Given the description of an element on the screen output the (x, y) to click on. 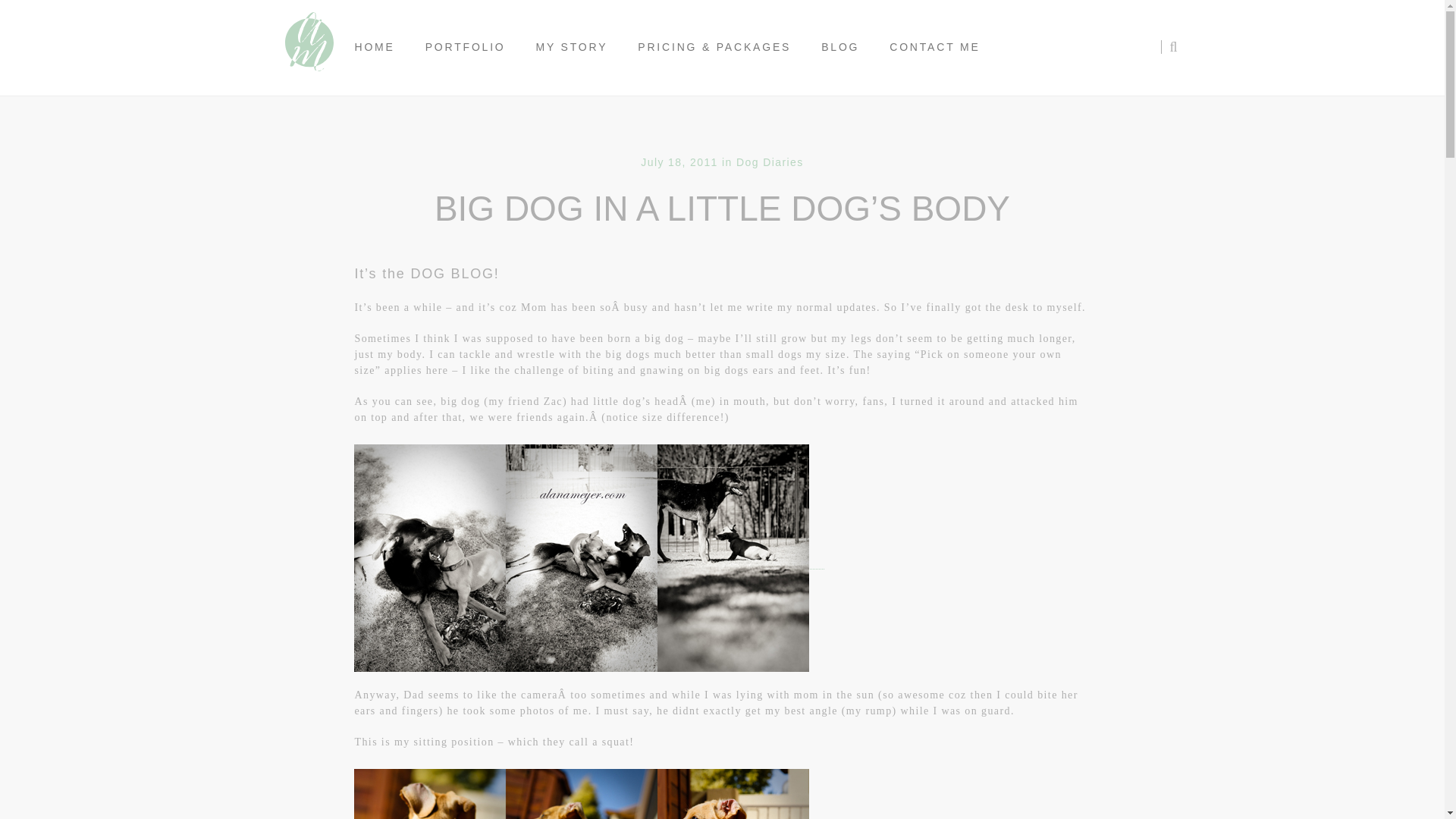
dog blog photography (581, 794)
Home (374, 47)
Contact Me (934, 47)
BLOG (840, 47)
Johannesburg Family Photographer (308, 47)
Portfolio (465, 47)
CONTACT ME (934, 47)
Blog (840, 47)
PORTFOLIO (465, 47)
MY STORY (572, 47)
dog blog photography2 (581, 557)
HOME (374, 47)
My Story (572, 47)
